Given the description of an element on the screen output the (x, y) to click on. 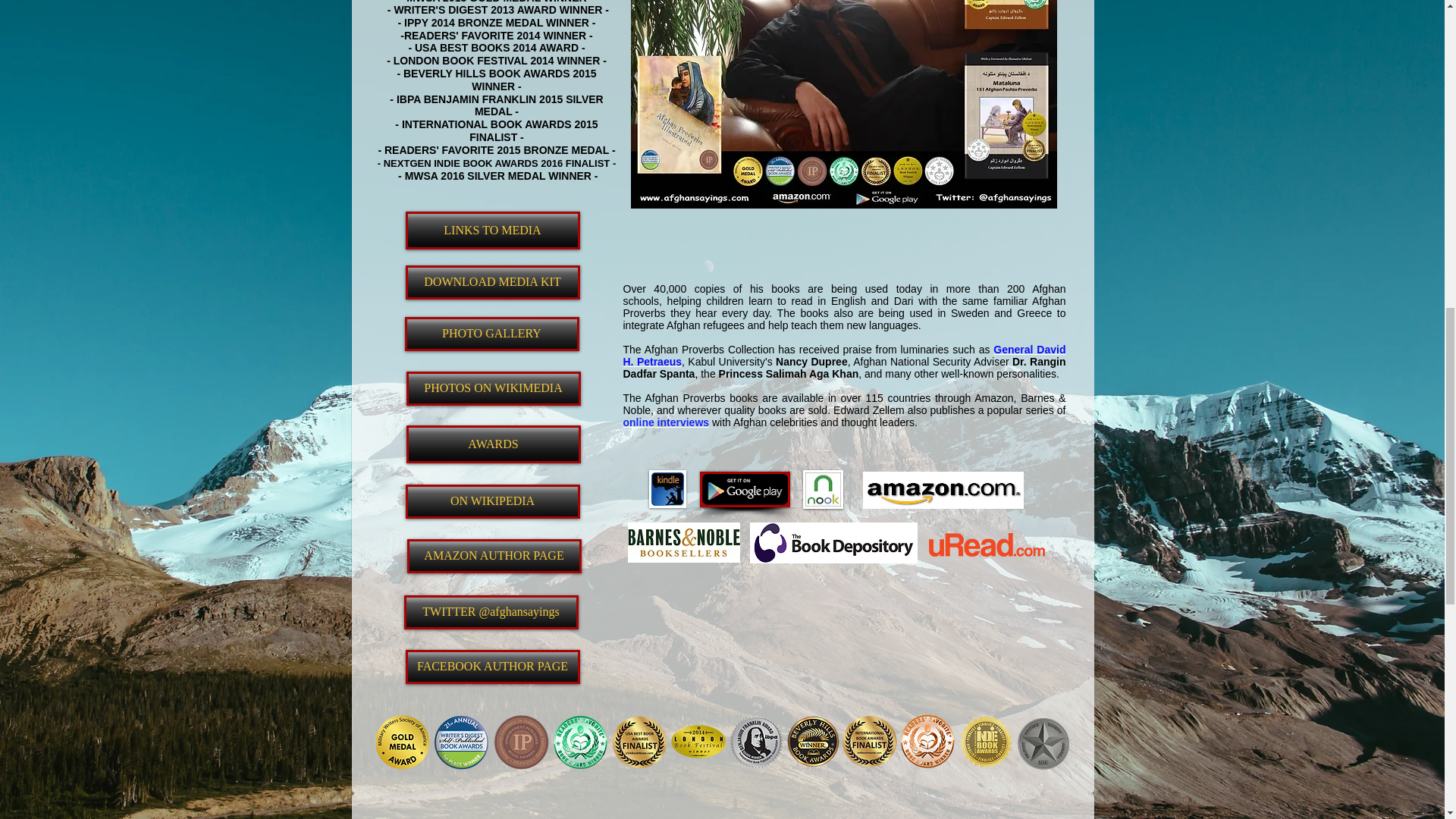
AMAZON AUTHOR PAGE (493, 555)
DOWNLOAD MEDIA KIT (491, 282)
General David H. Petraeus (844, 355)
FACEBOOK AUTHOR PAGE (491, 666)
LINKS TO MEDIA (491, 230)
online interviews (666, 422)
PHOTO GALLERY (491, 333)
ON WIKIPEDIA (491, 501)
AWARDS (493, 444)
PHOTOS ON WIKIMEDIA (493, 388)
